Given the description of an element on the screen output the (x, y) to click on. 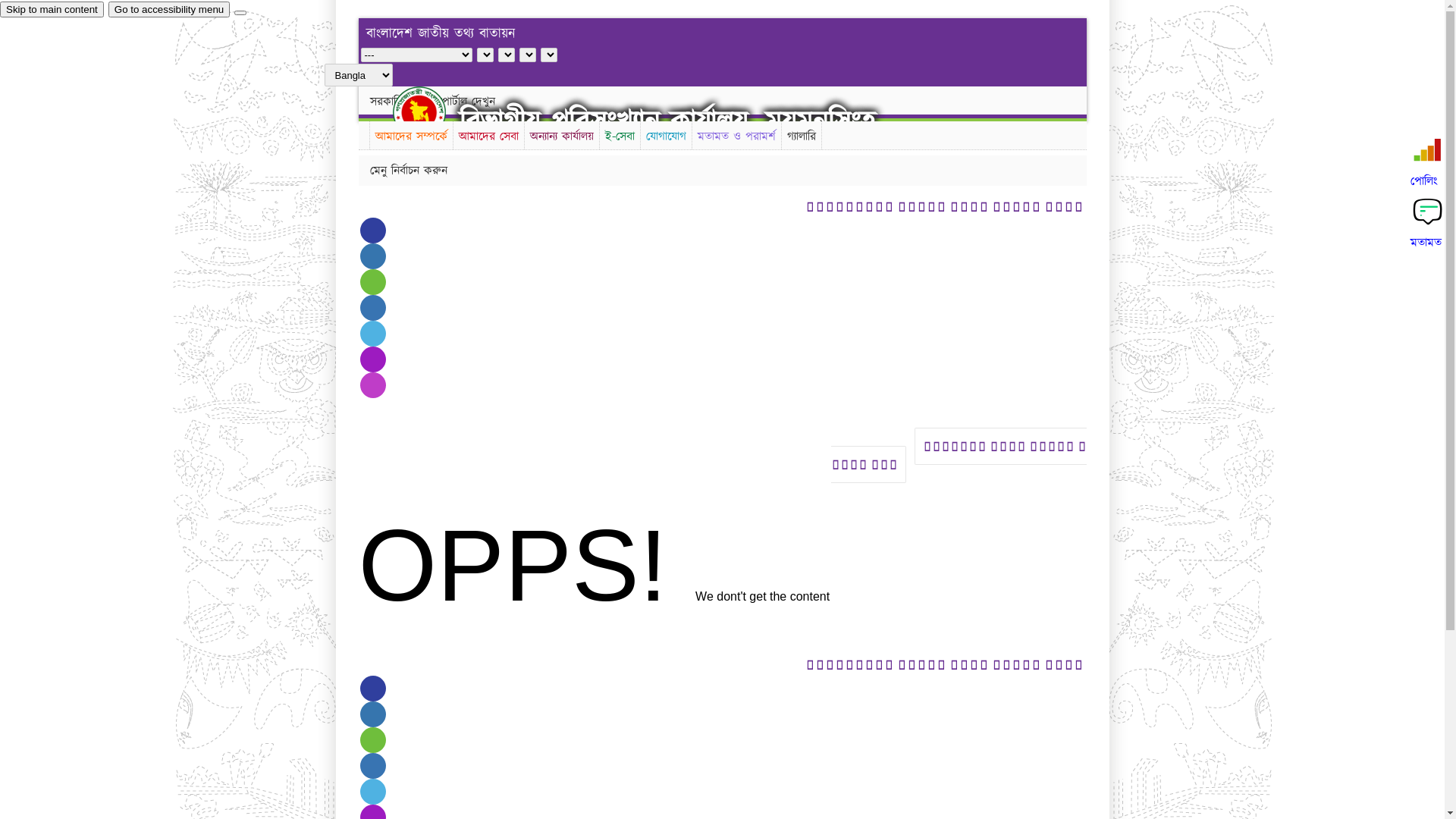
close Element type: hover (240, 12)
Go to accessibility menu Element type: text (168, 9)
Skip to main content Element type: text (51, 9)

                
             Element type: hover (431, 112)
